Given the description of an element on the screen output the (x, y) to click on. 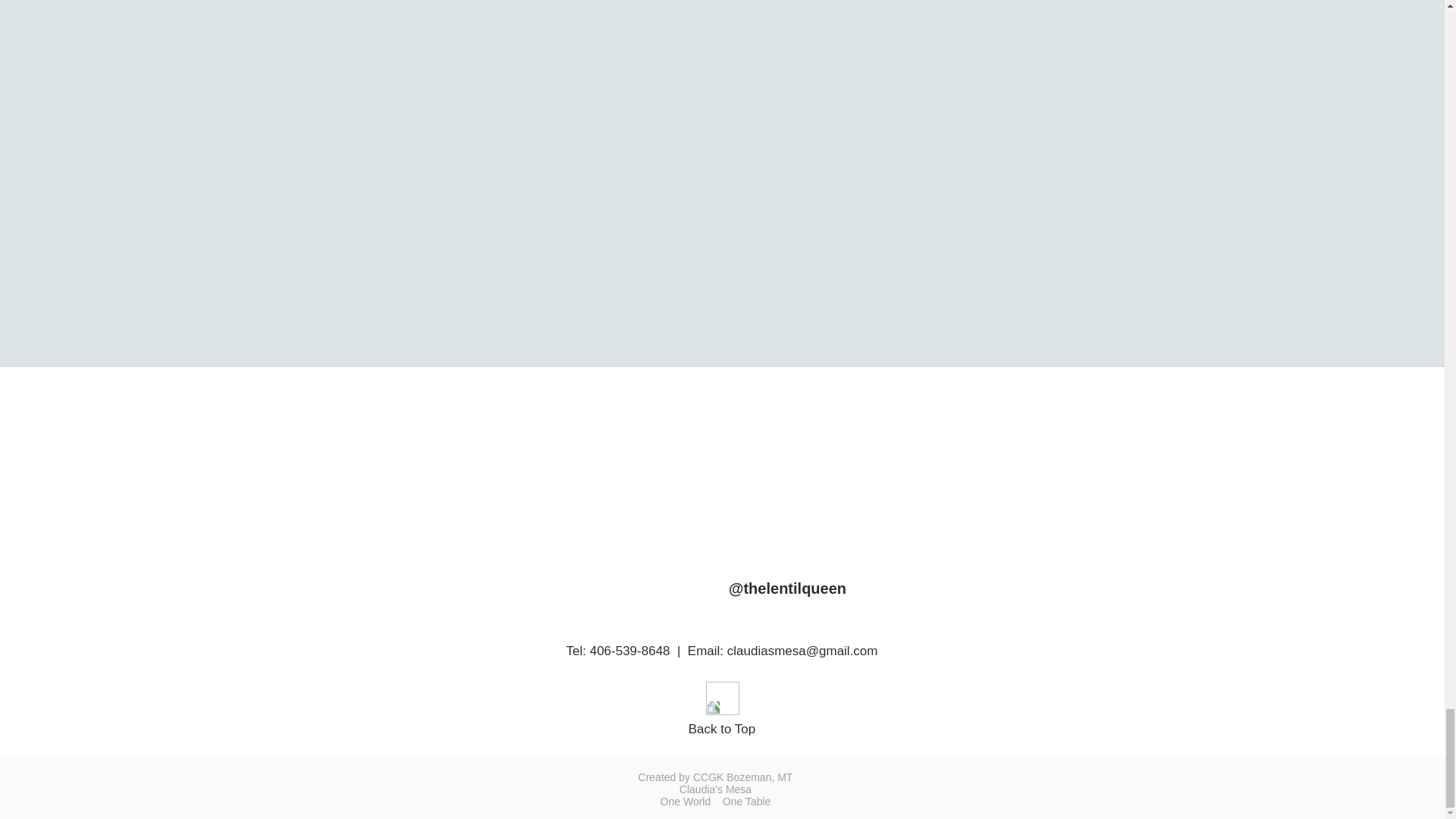
Back to Top (721, 728)
